Given the description of an element on the screen output the (x, y) to click on. 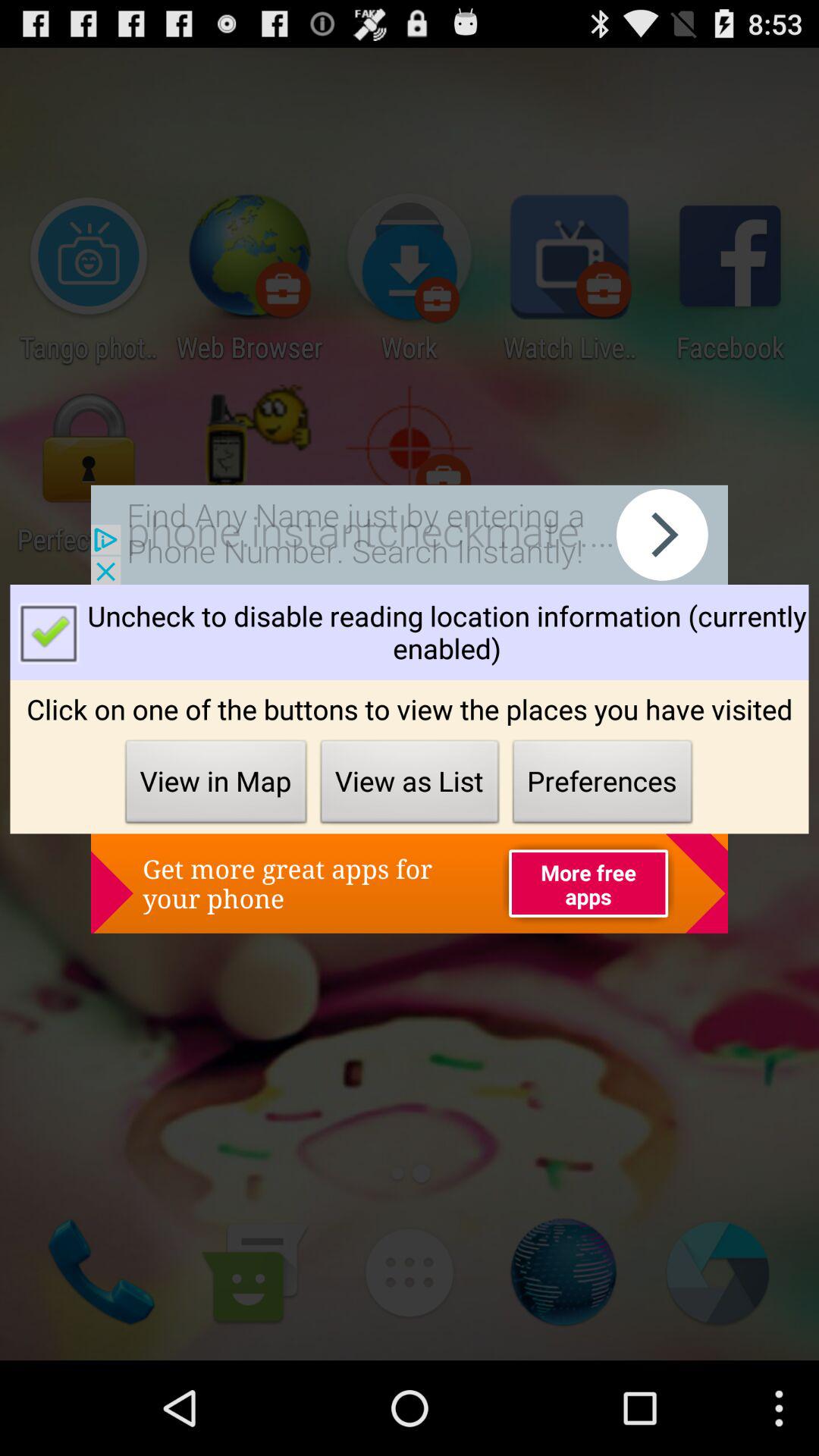
open advertisement (409, 534)
